Given the description of an element on the screen output the (x, y) to click on. 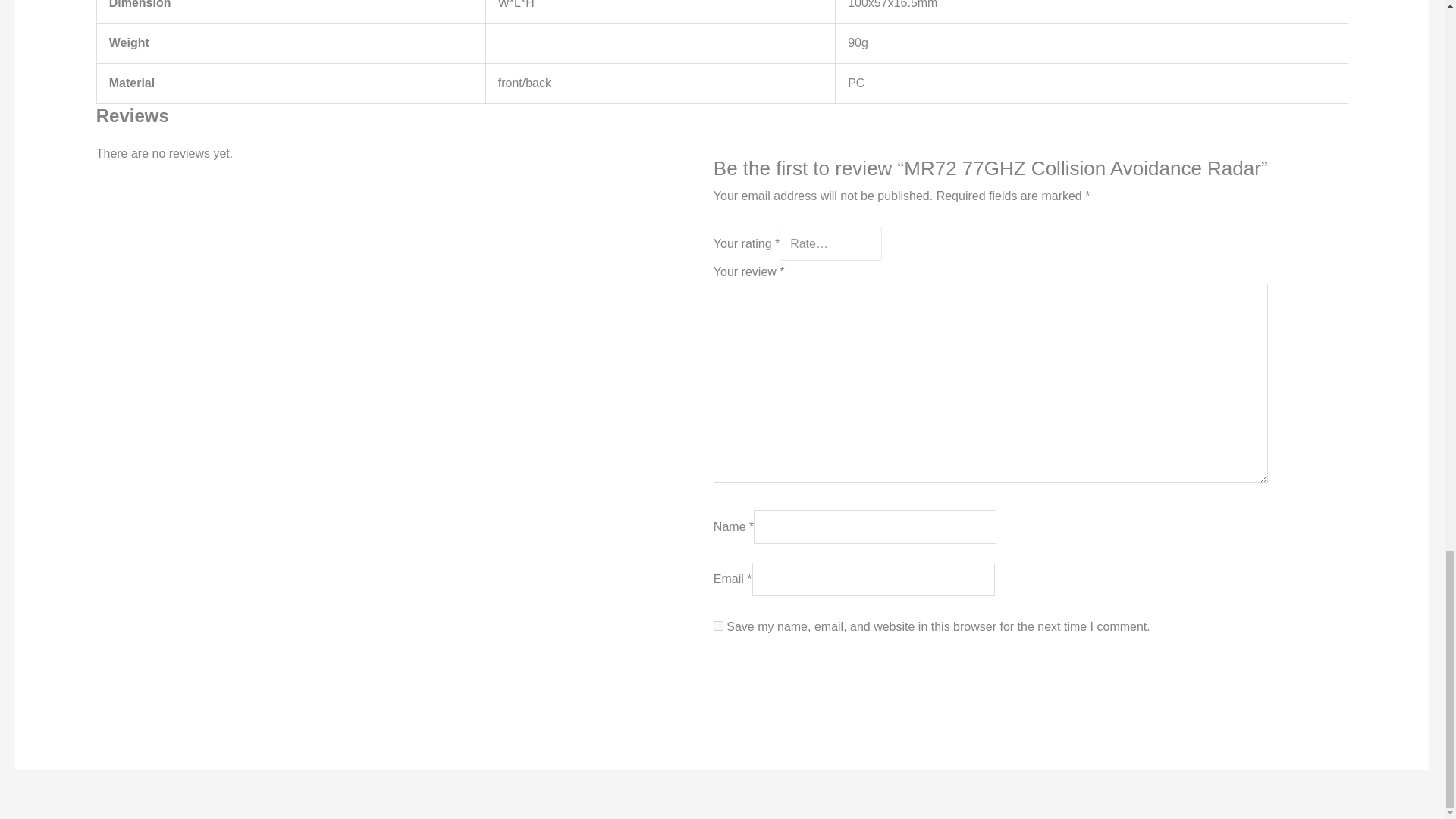
yes (718, 625)
